Given the description of an element on the screen output the (x, y) to click on. 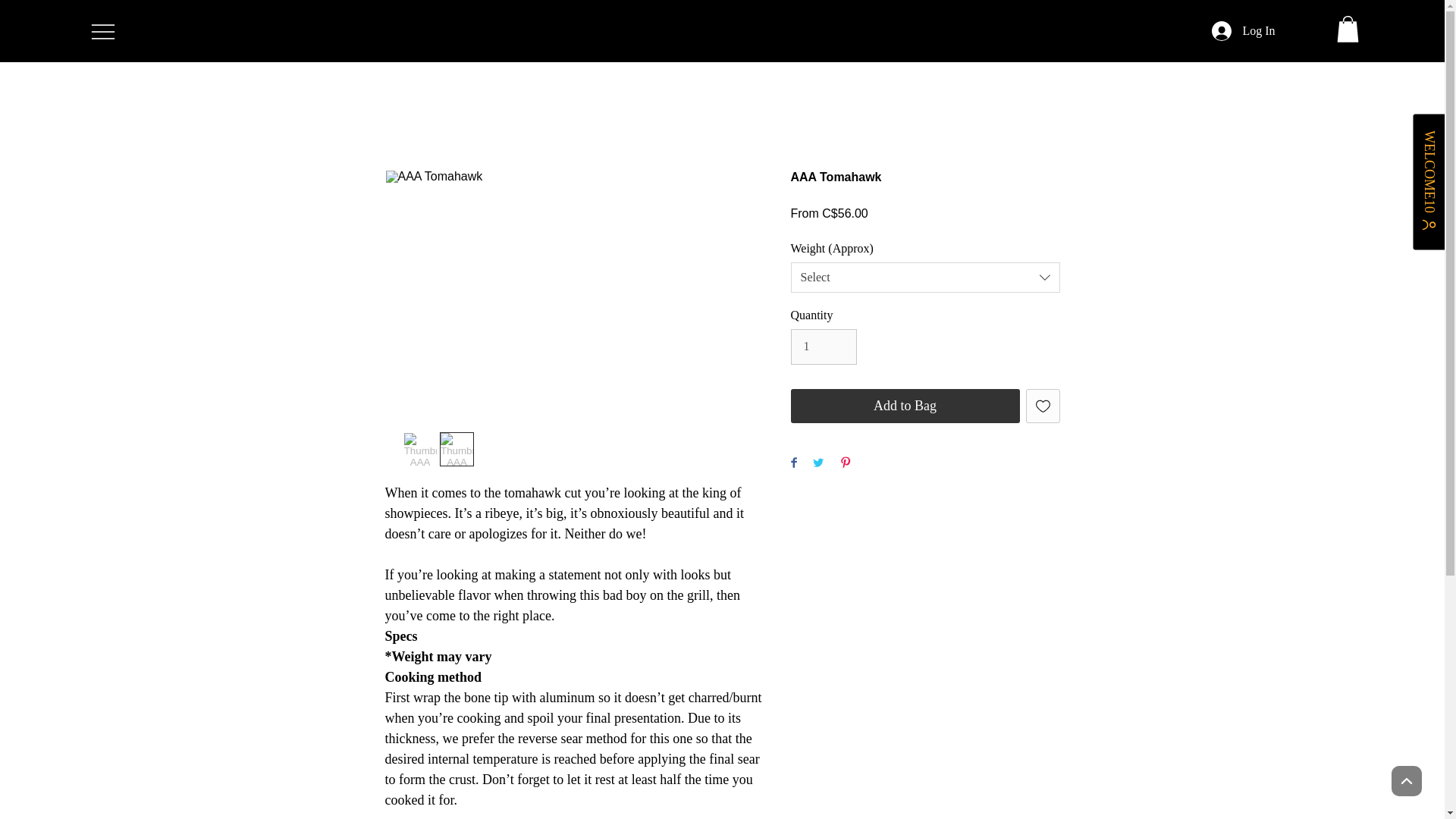
Log In (1243, 30)
Add to Bag (904, 406)
Select (924, 277)
1 (823, 346)
